Given the description of an element on the screen output the (x, y) to click on. 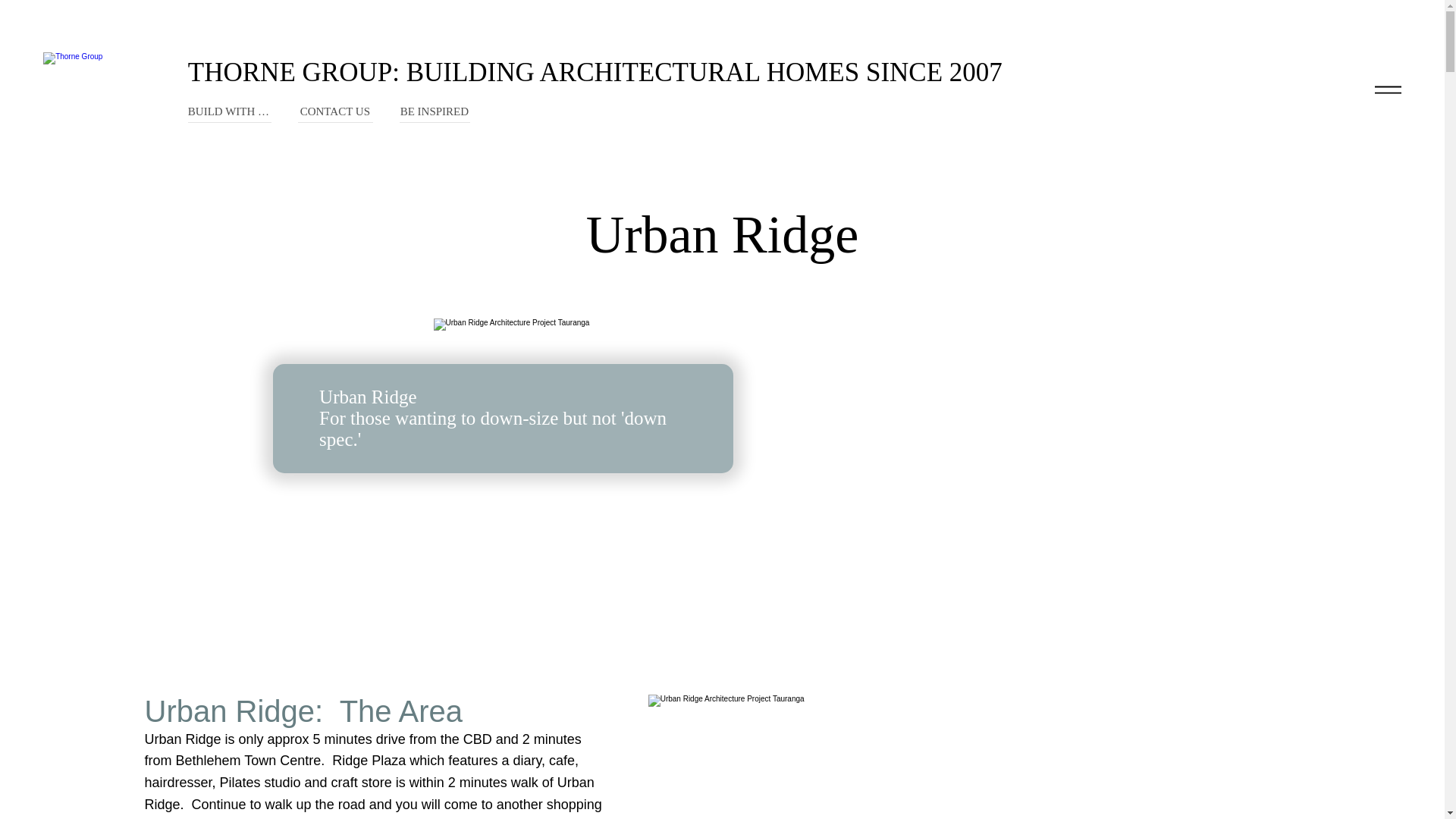
BE INSPIRED (434, 113)
BUILD WITH US (228, 113)
CONTACT US (336, 113)
